Given the description of an element on the screen output the (x, y) to click on. 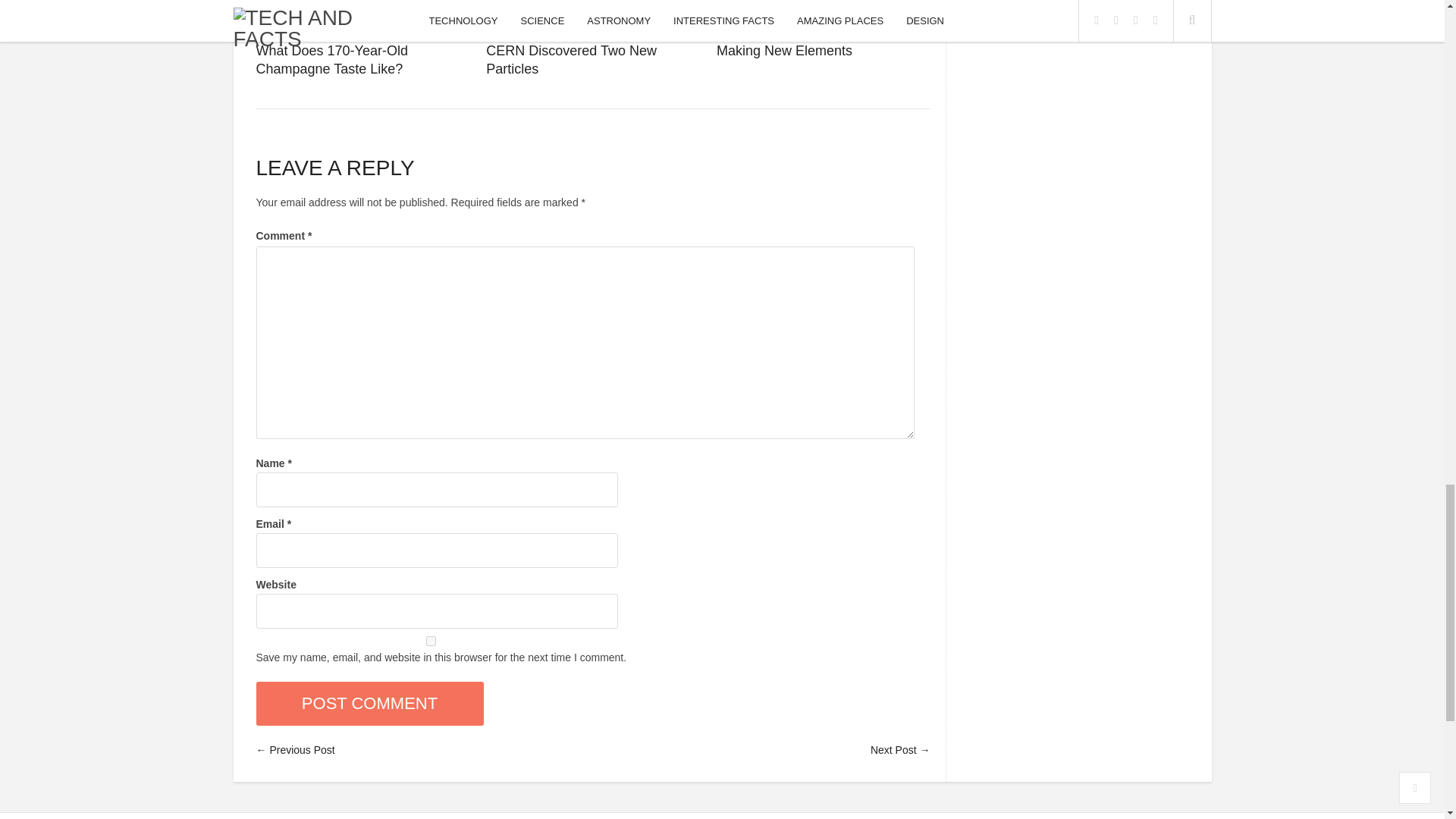
What Does 170-Year-Old Champagne Taste Like? (363, 28)
Post Comment (369, 703)
What Does 170-Year-Old Champagne Taste Like? (331, 59)
CERN Discovered Two New Particles (593, 28)
Making New Elements (823, 28)
CERN Discovered Two New Particles (571, 59)
yes (430, 641)
Making New Elements (783, 50)
